Given the description of an element on the screen output the (x, y) to click on. 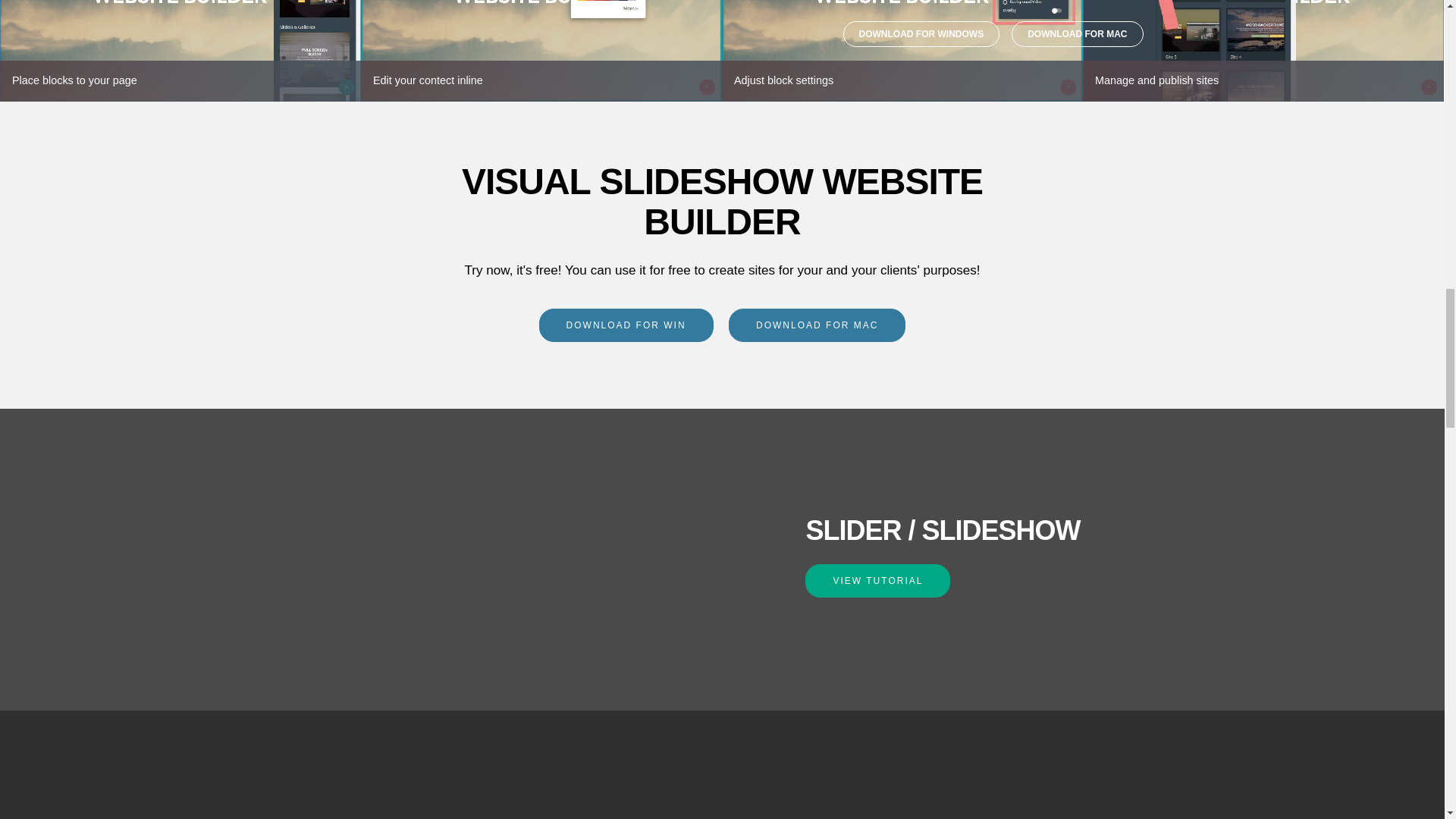
DOWNLOAD FOR MAC (817, 325)
DOWNLOAD FOR WIN (625, 325)
VIEW TUTORIAL (877, 580)
